Given the description of an element on the screen output the (x, y) to click on. 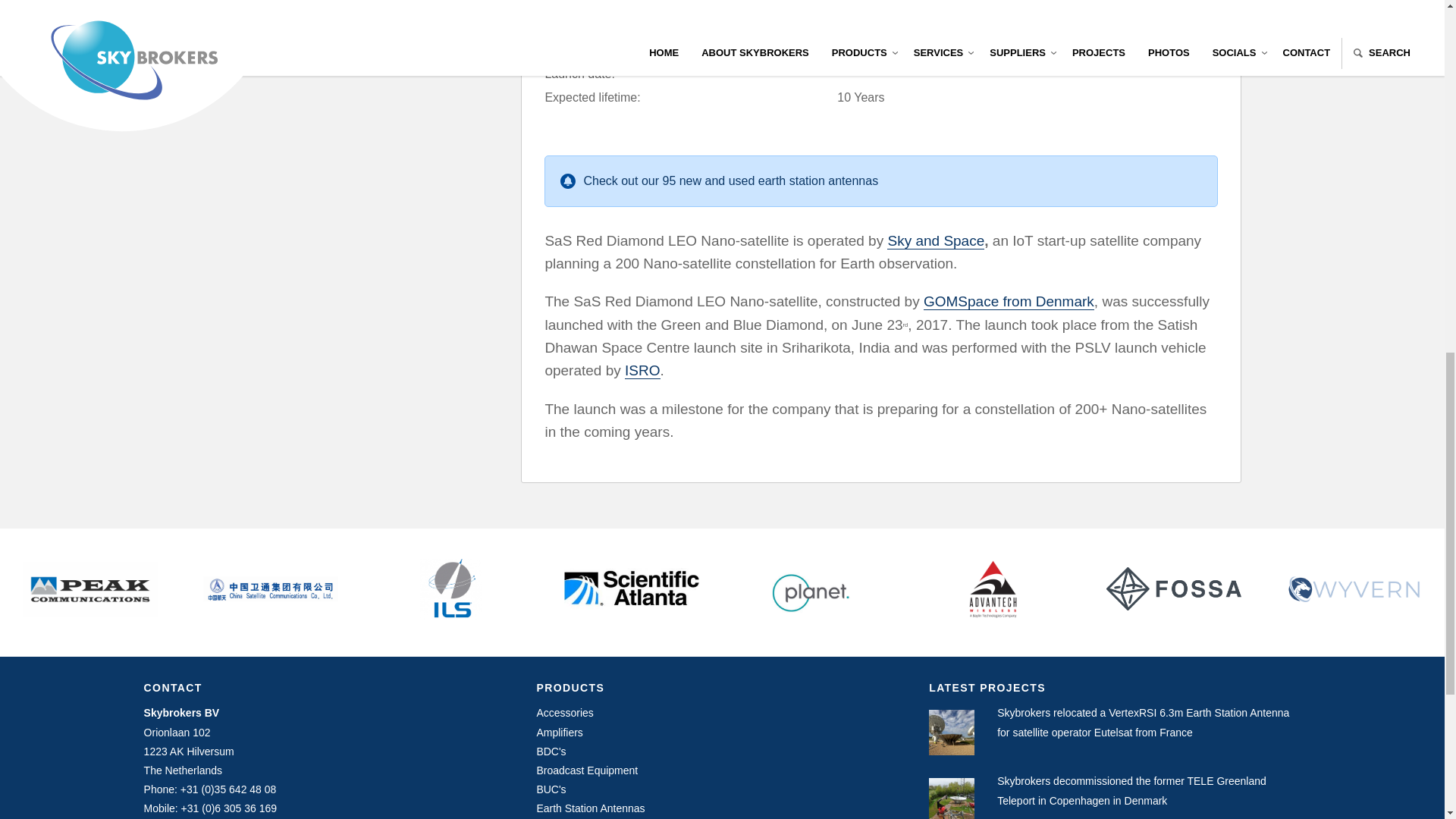
Sky and Space (877, 4)
